Given the description of an element on the screen output the (x, y) to click on. 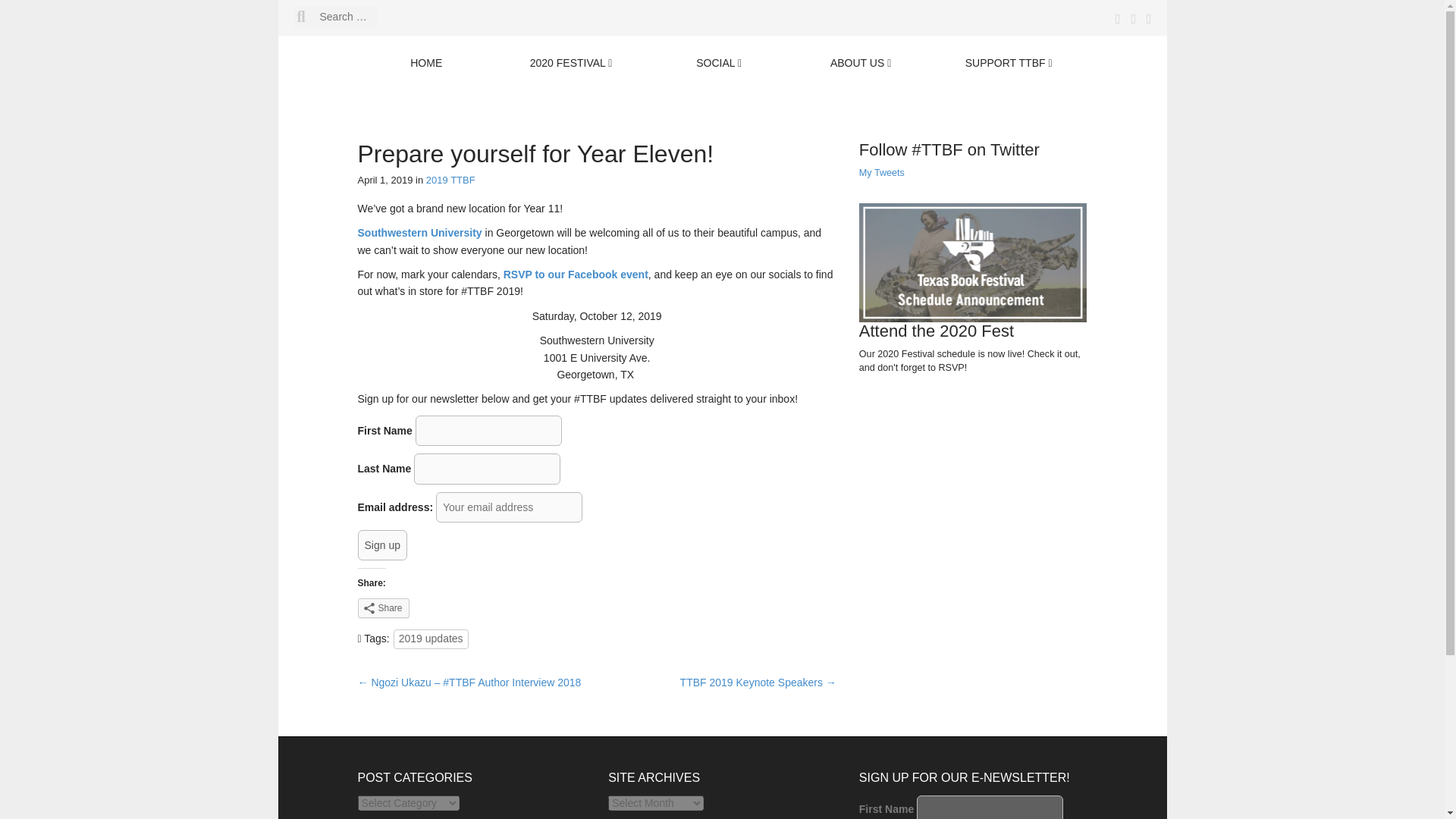
Sign up (382, 544)
April 1, 2019 (385, 179)
Southwestern University (419, 232)
RSVP to our Facebook event (575, 274)
2019 TTBF (451, 179)
Instagram (1144, 19)
ABOUT US (860, 63)
Texas Teen Book Festival (615, 90)
2019 updates (430, 639)
